Given the description of an element on the screen output the (x, y) to click on. 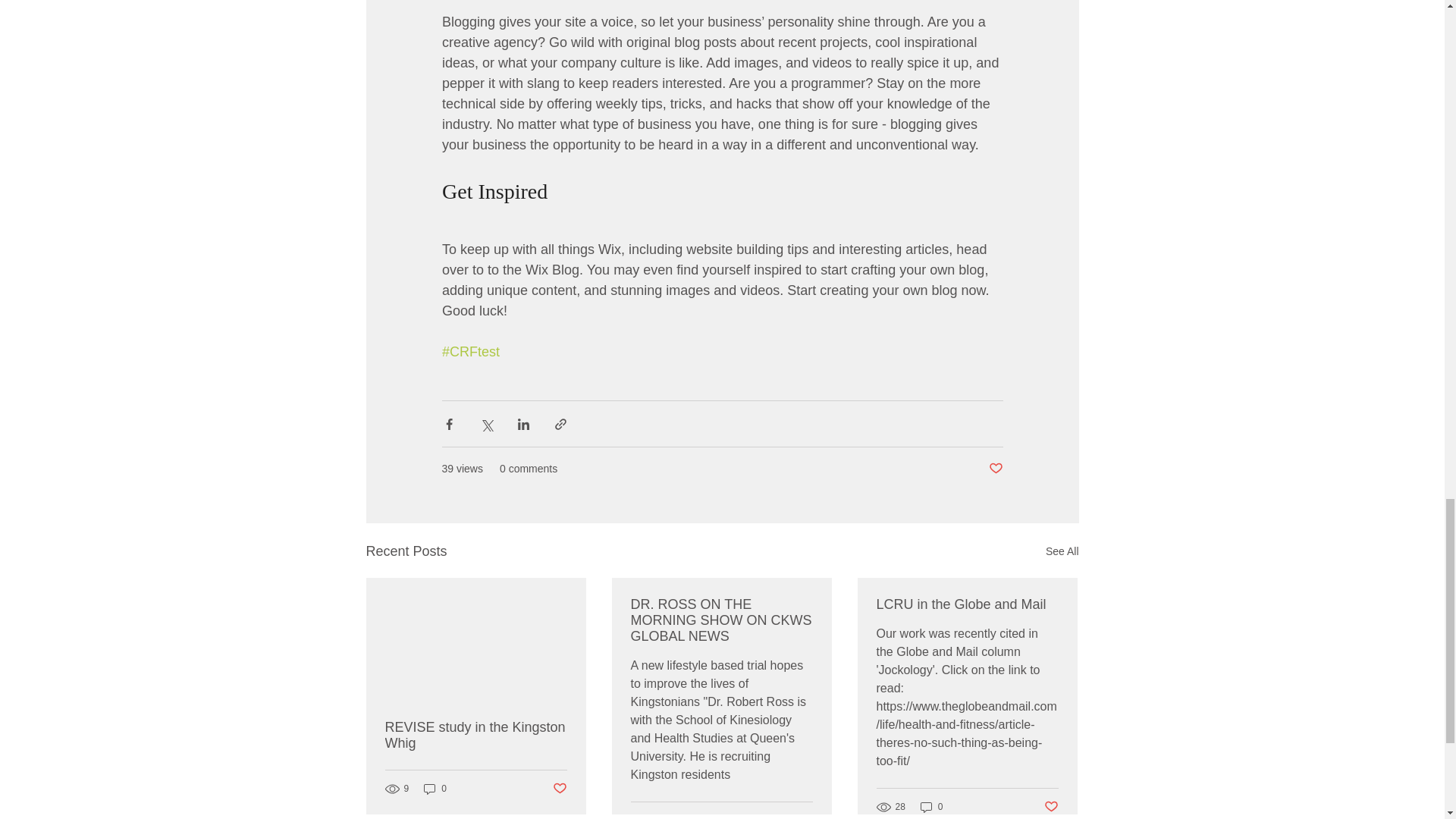
Post not marked as liked (558, 788)
0 (931, 807)
0 (435, 789)
REVISE study in the Kingston Whig (476, 735)
LCRU in the Globe and Mail (967, 604)
Post not marked as liked (804, 816)
Post not marked as liked (1050, 806)
Post not marked as liked (995, 468)
DR. ROSS ON THE MORNING SHOW ON CKWS GLOBAL NEWS (721, 620)
See All (1061, 551)
